Given the description of an element on the screen output the (x, y) to click on. 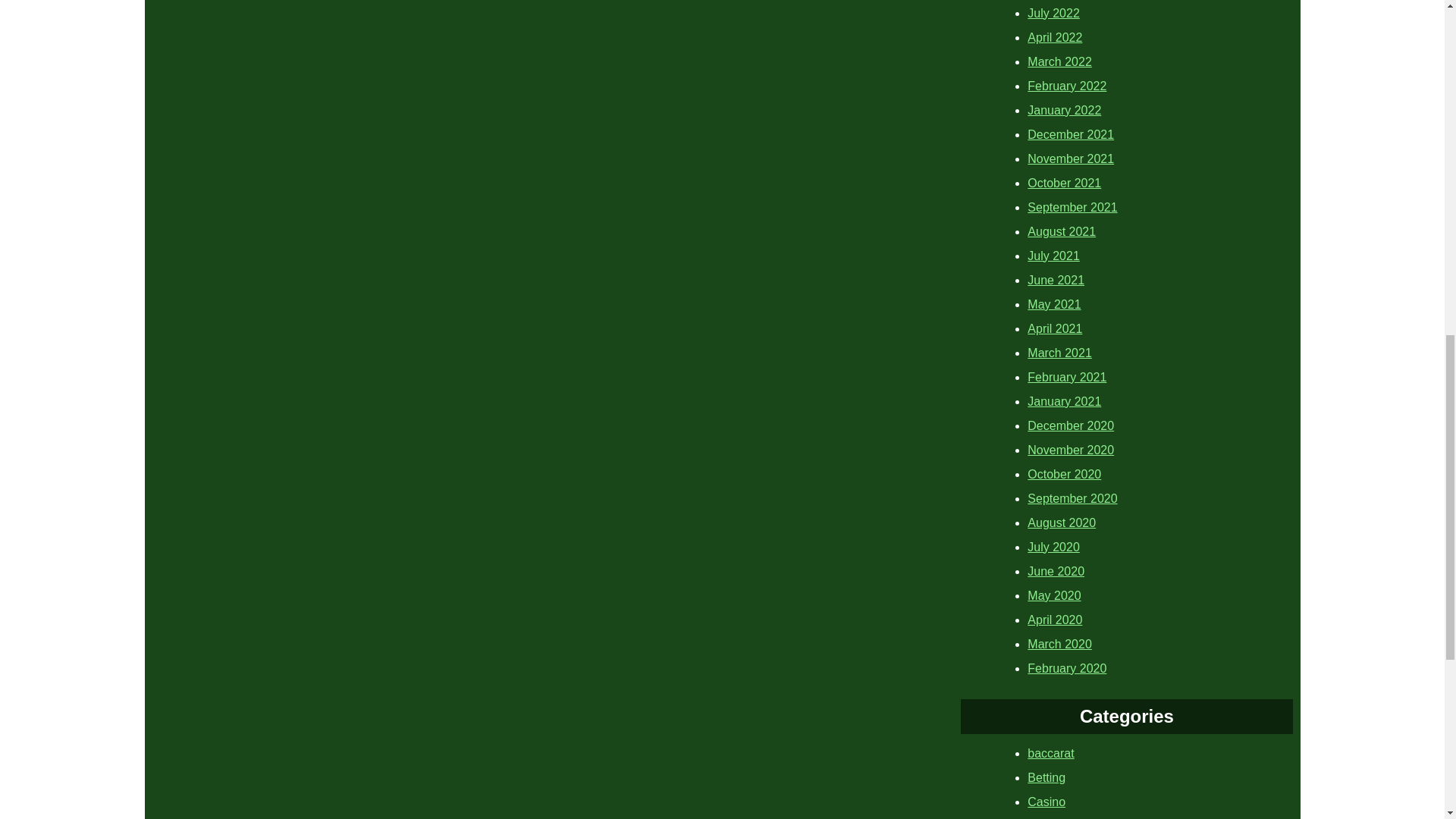
July 2021 (1053, 254)
November 2021 (1070, 157)
June 2021 (1055, 278)
May 2021 (1053, 303)
March 2022 (1059, 60)
December 2021 (1070, 133)
October 2021 (1063, 182)
April 2022 (1054, 36)
January 2022 (1063, 109)
August 2021 (1061, 230)
